Given the description of an element on the screen output the (x, y) to click on. 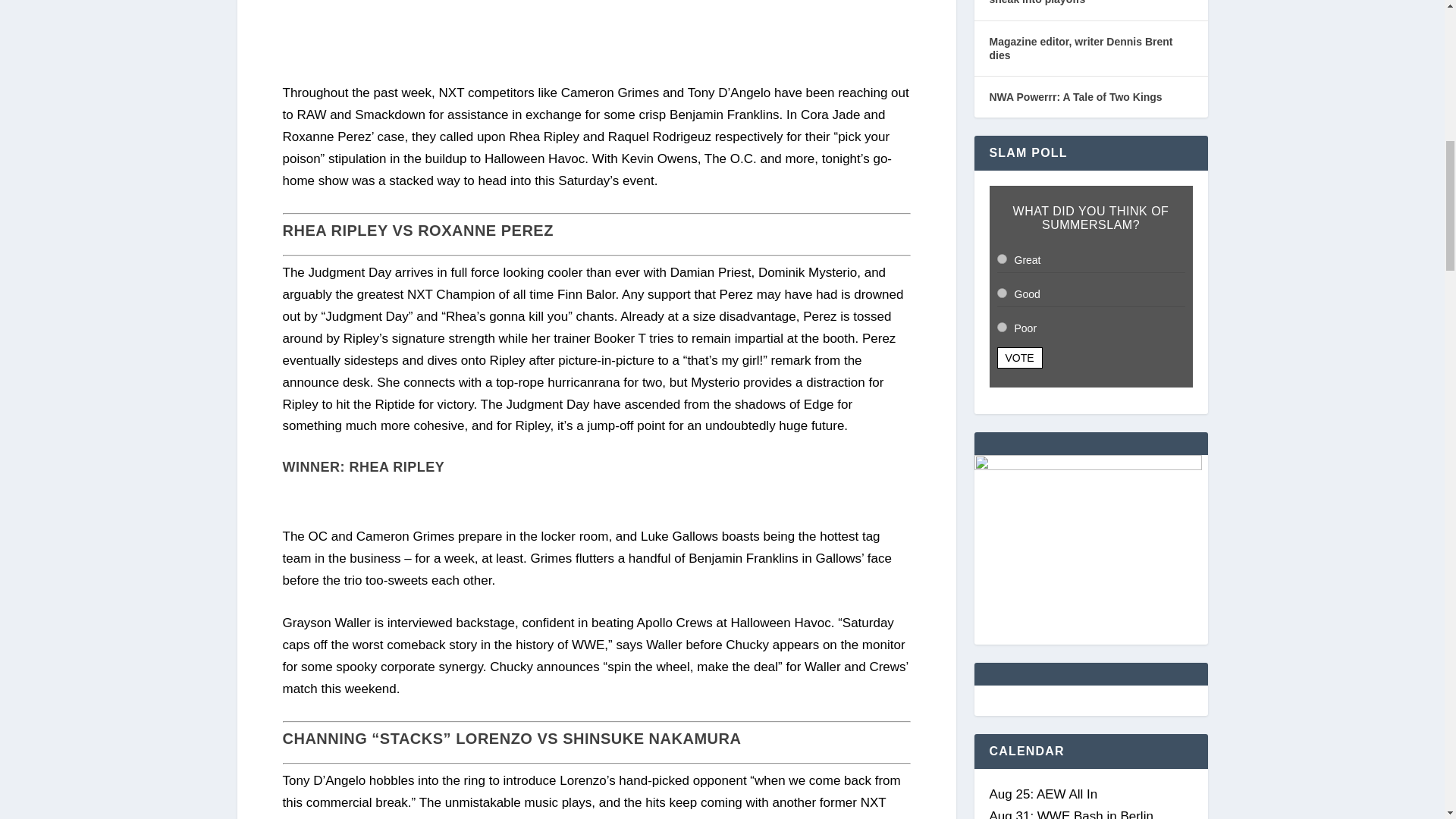
6504 (1000, 293)
6505 (1000, 327)
6503 (1000, 258)
